Given the description of an element on the screen output the (x, y) to click on. 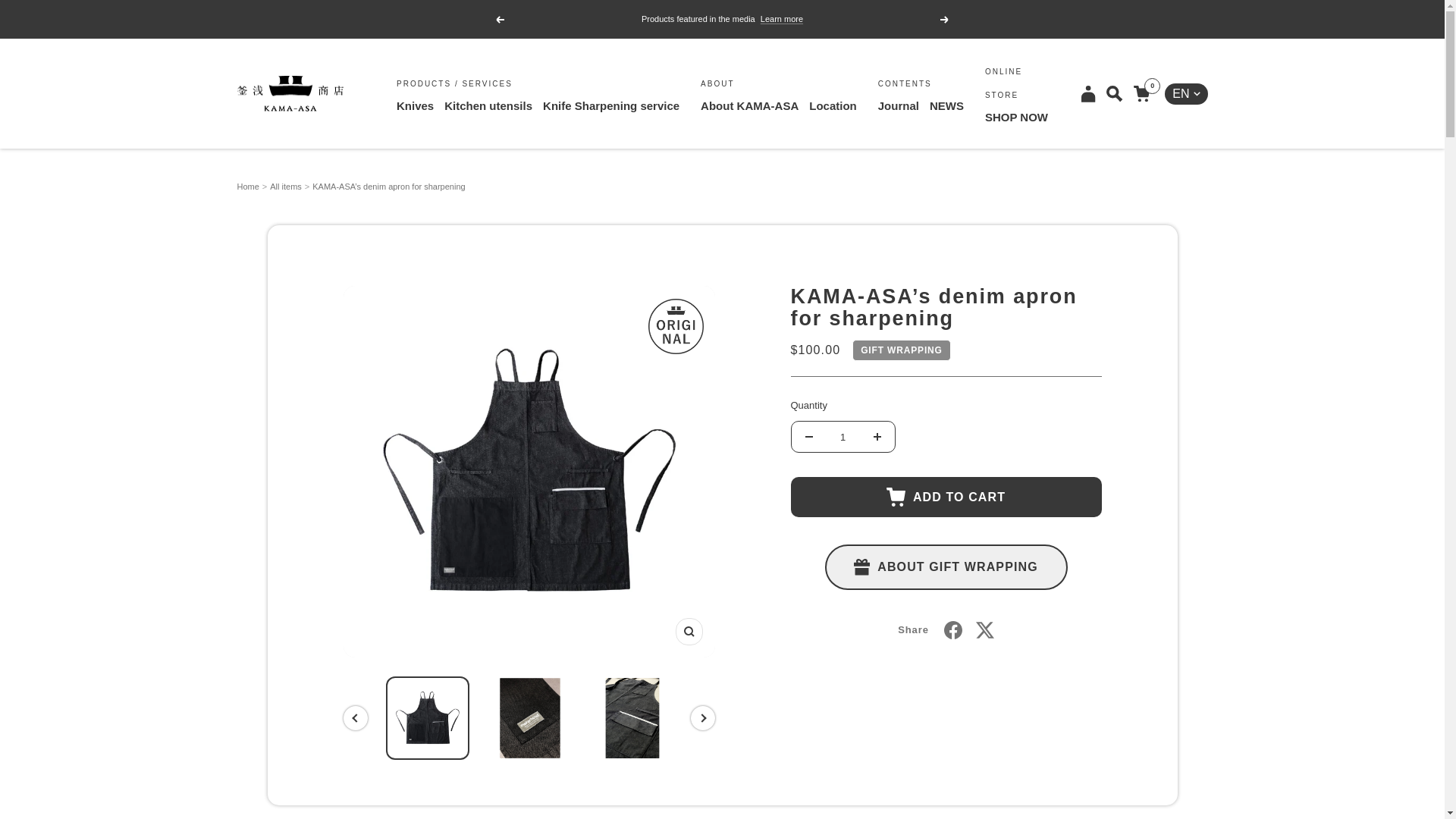
All items (285, 185)
Next (944, 18)
Learn more (781, 19)
Journal (897, 105)
About KAMA-ASA (748, 105)
1 (843, 436)
0 (1142, 93)
Knife Sharpening service (611, 105)
SHOP NOW (1016, 116)
EN (1185, 93)
Zoom (688, 631)
en (1175, 147)
NEWS (946, 105)
Knives (414, 105)
Location (833, 105)
